Given the description of an element on the screen output the (x, y) to click on. 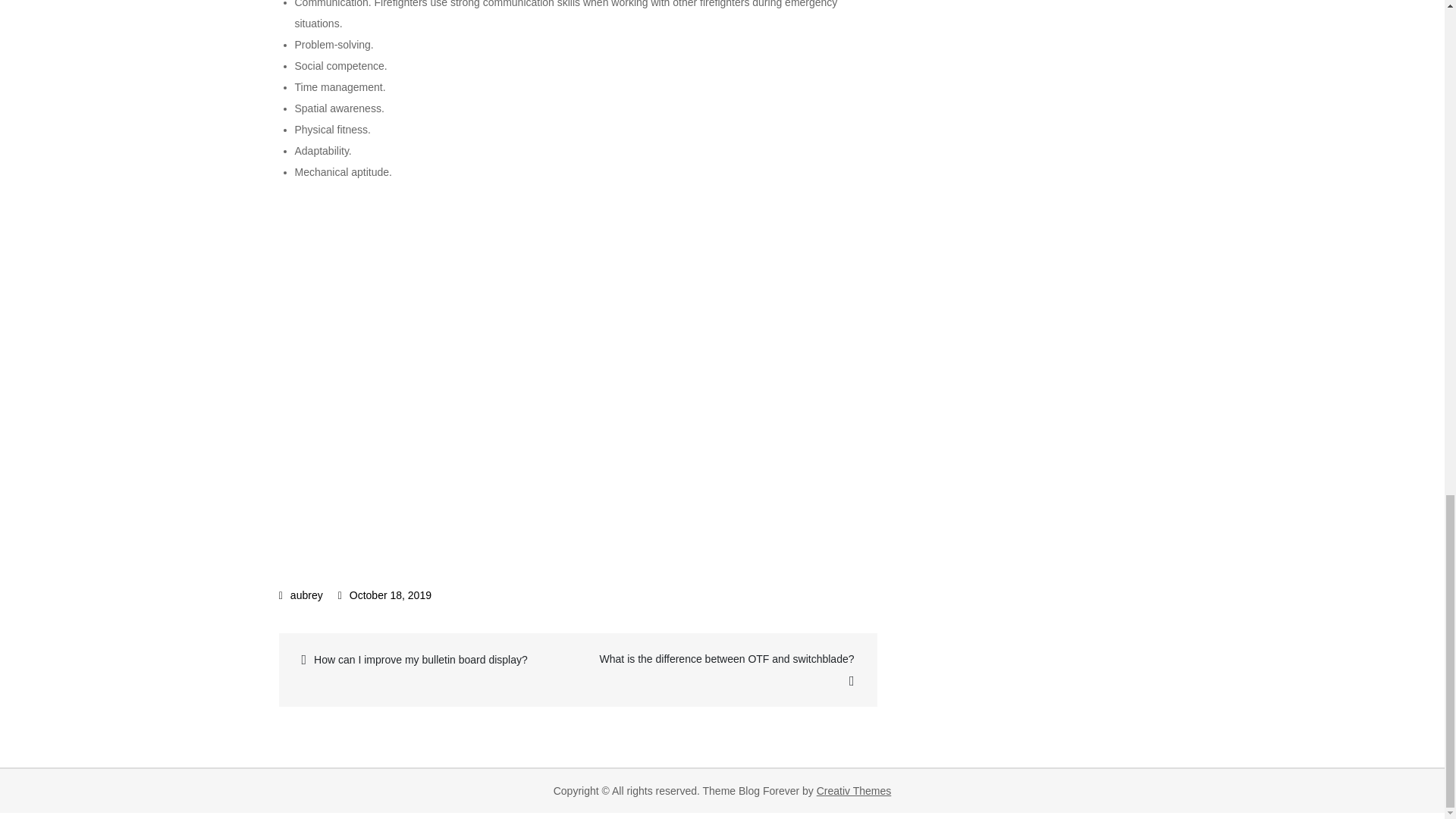
aubrey (301, 594)
Creativ Themes (853, 790)
What is the difference between OTF and switchblade? (725, 669)
October 18, 2019 (383, 594)
How can I improve my bulletin board display? (430, 659)
